Given the description of an element on the screen output the (x, y) to click on. 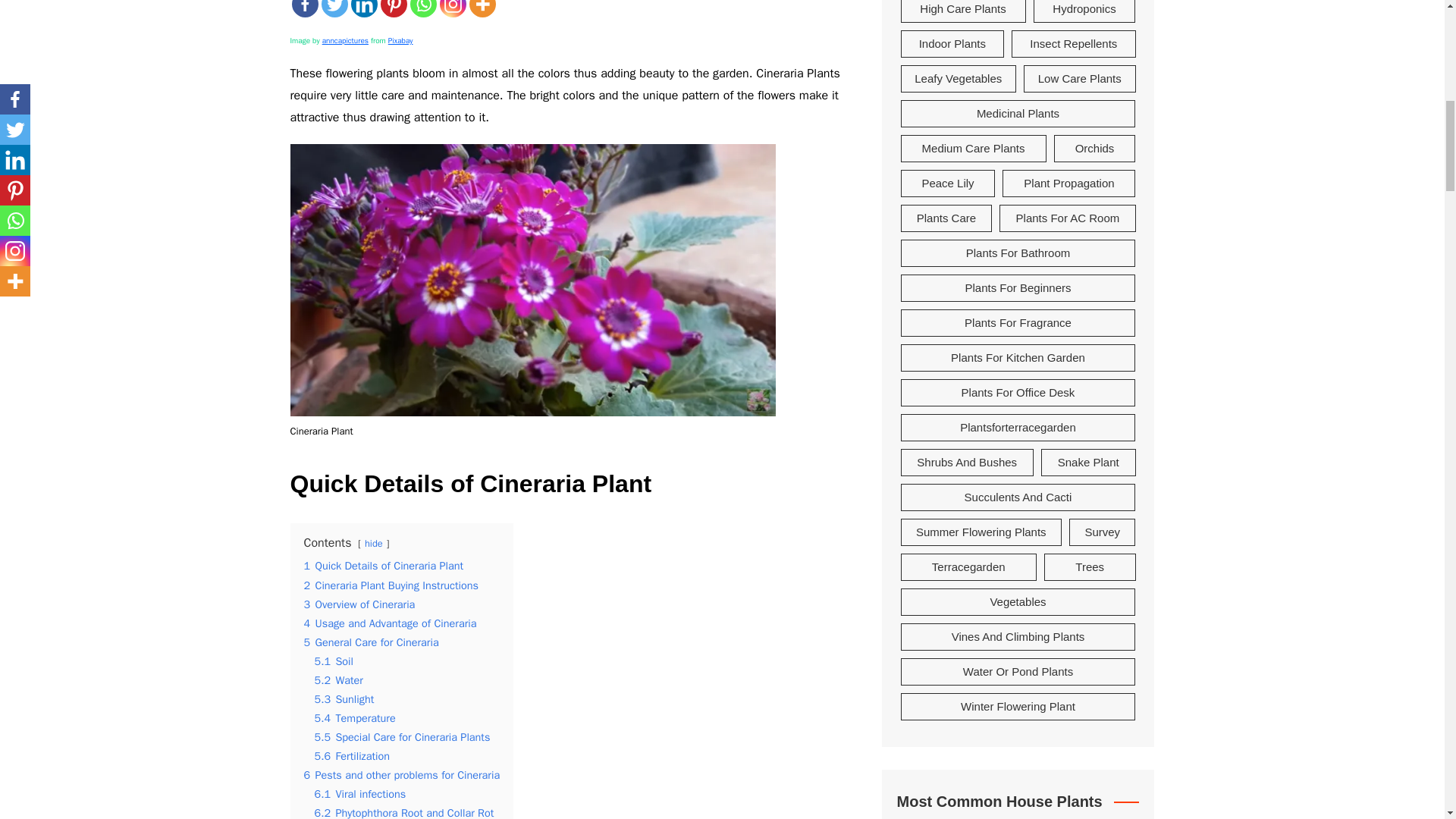
More (481, 8)
Twitter (334, 8)
Instagram (452, 8)
Facebook (304, 8)
Linkedin (363, 8)
Whatsapp (422, 8)
Pinterest (393, 8)
